Given the description of an element on the screen output the (x, y) to click on. 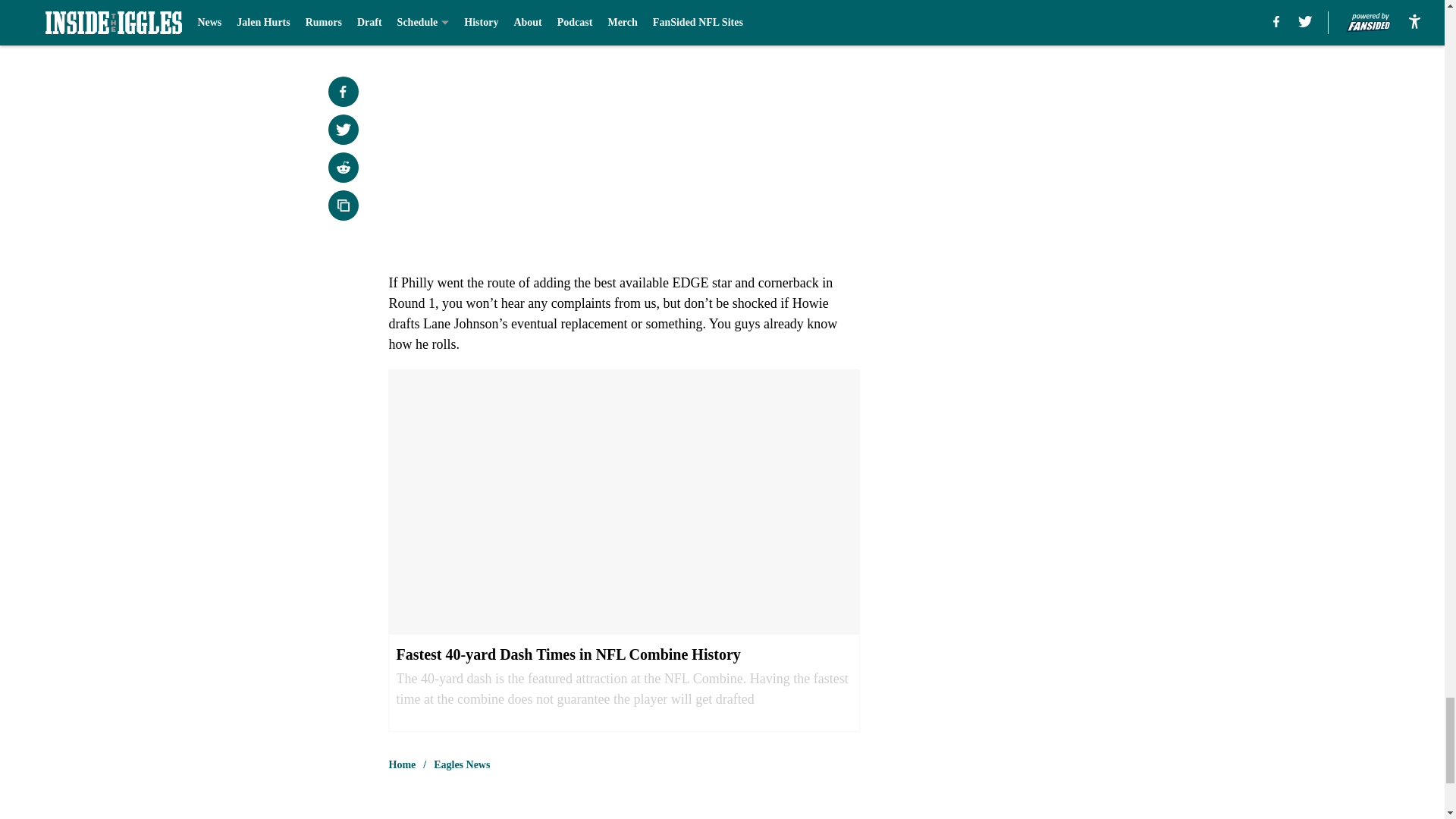
Home (401, 765)
Eagles News (461, 765)
